Given the description of an element on the screen output the (x, y) to click on. 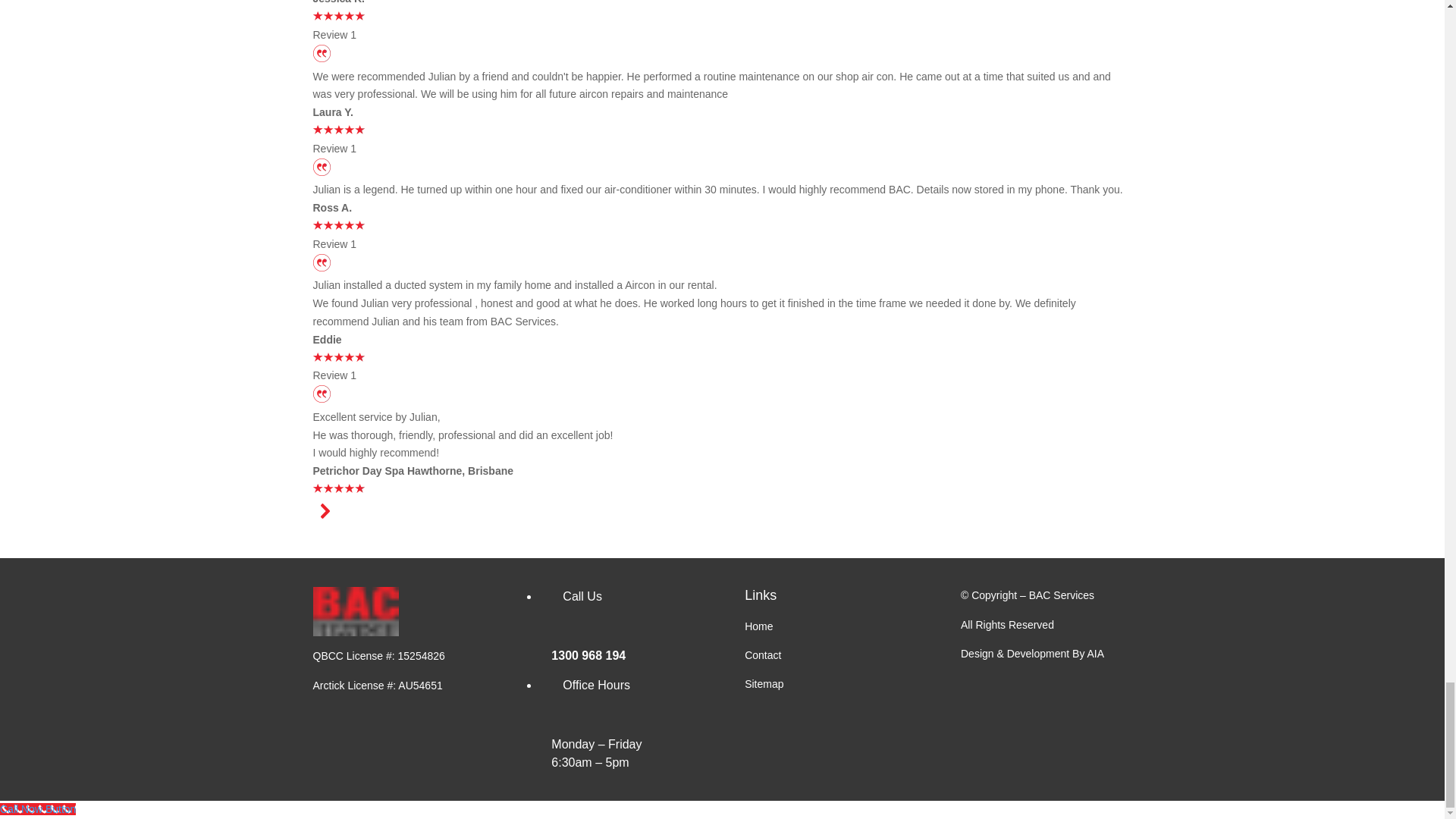
Call Now Button (37, 808)
logo-white-113x65 (355, 611)
Sitemap (763, 684)
Contact (762, 654)
Home (758, 625)
